Given the description of an element on the screen output the (x, y) to click on. 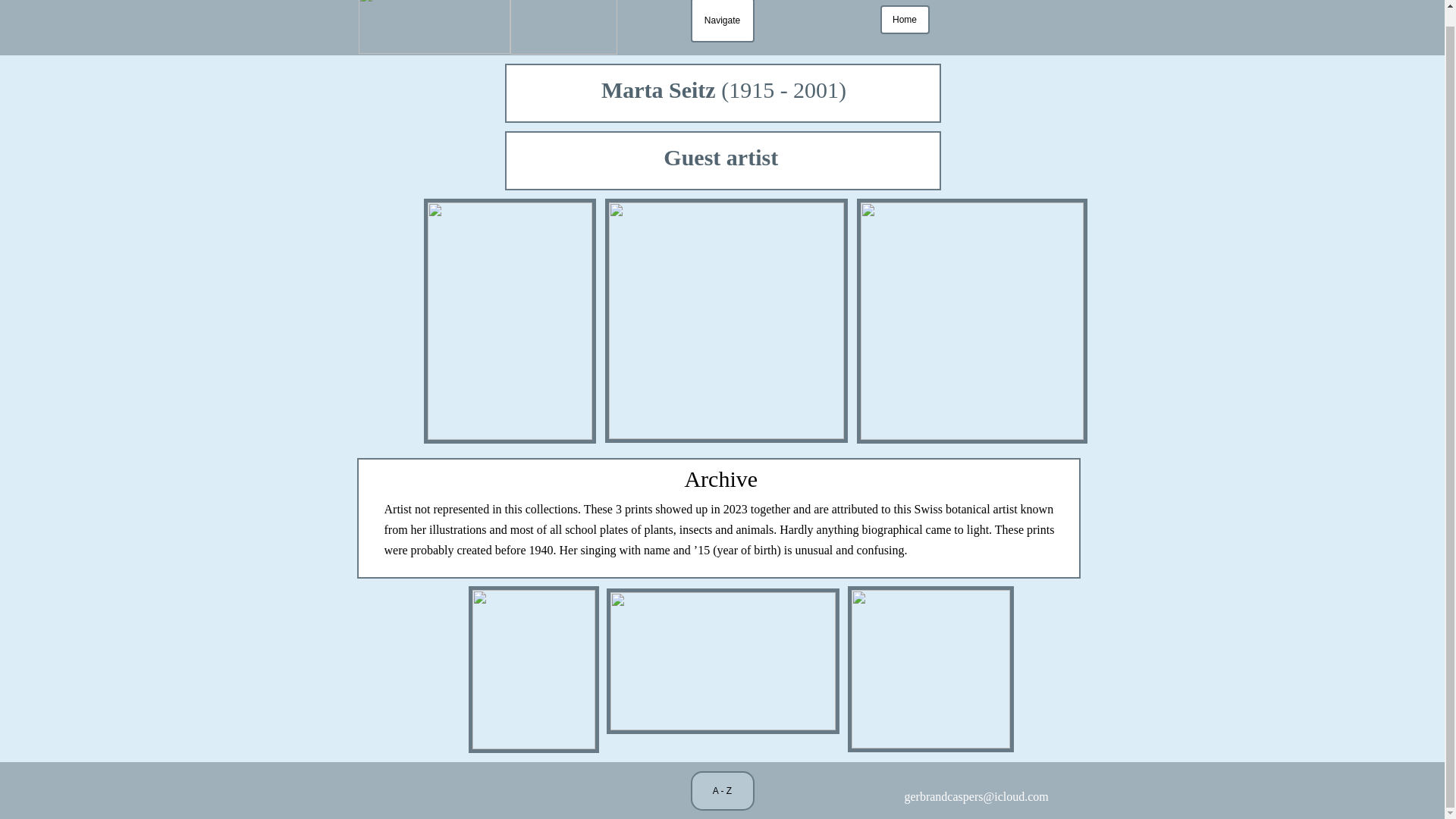
Guest artist  (722, 160)
Navigate (721, 36)
Home (903, 26)
